Given the description of an element on the screen output the (x, y) to click on. 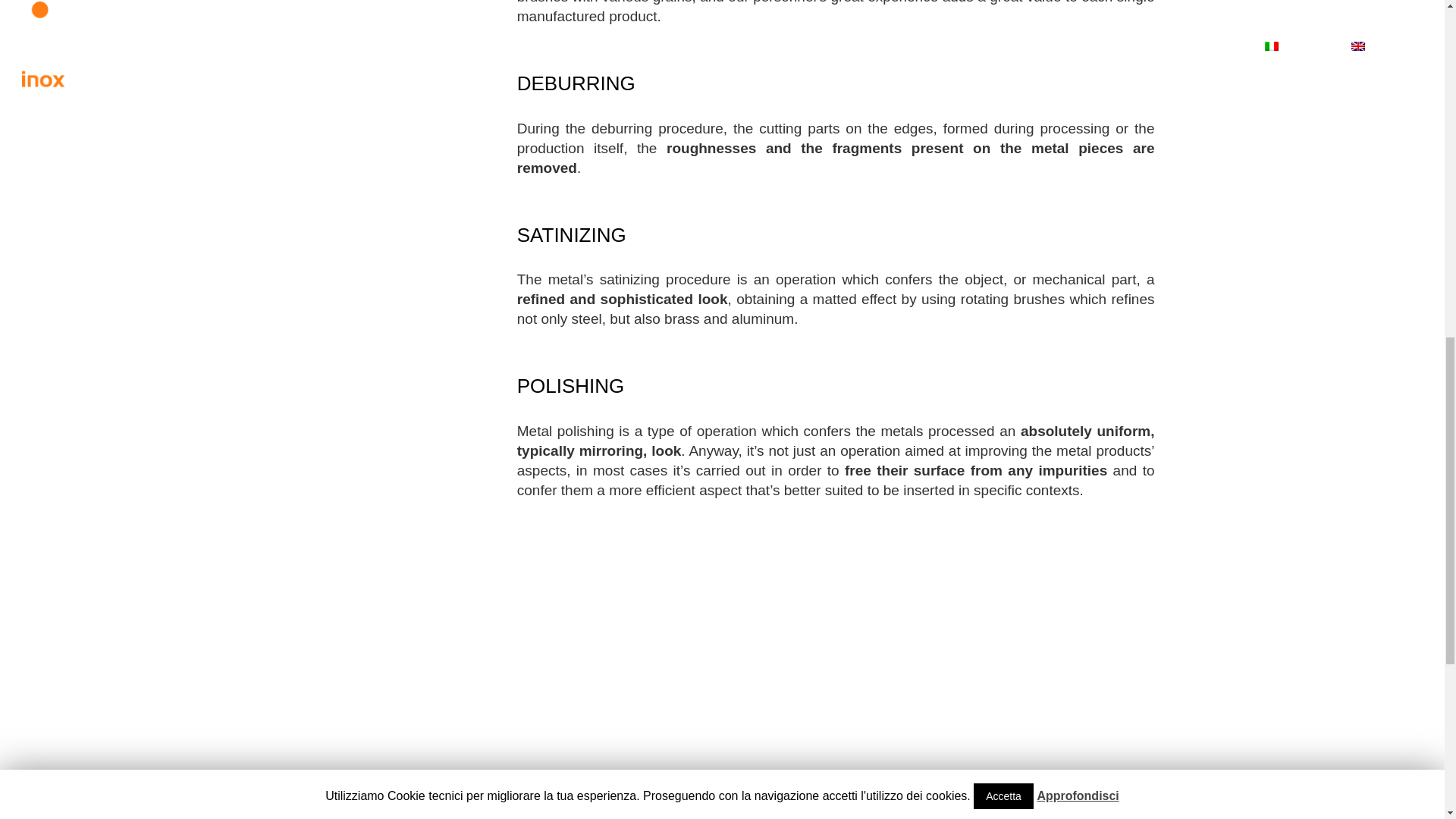
Back to top (1413, 41)
